Given the description of an element on the screen output the (x, y) to click on. 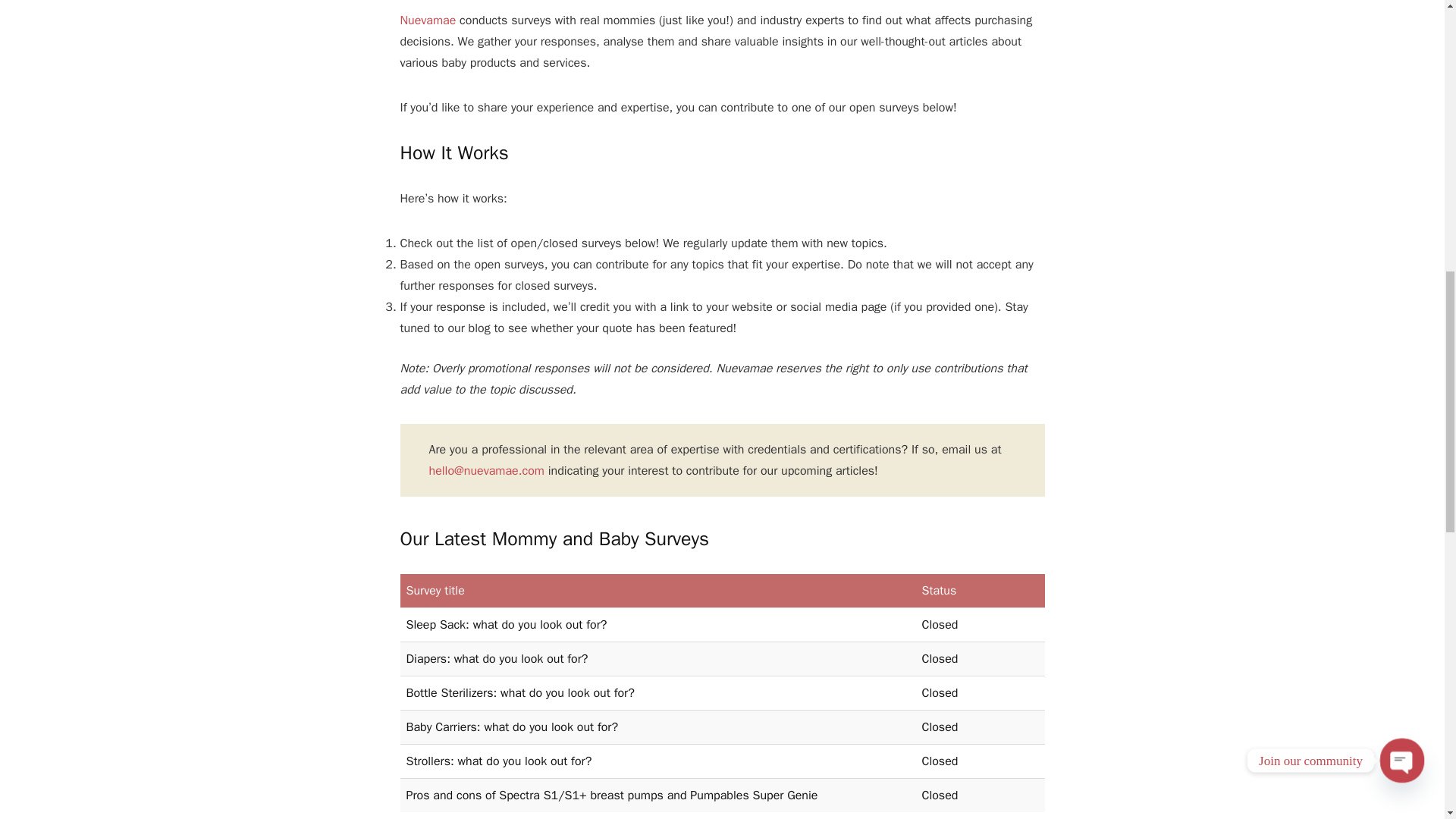
Nuevamae (428, 20)
Get Featured in Our Articles 1 (722, 4)
